Given the description of an element on the screen output the (x, y) to click on. 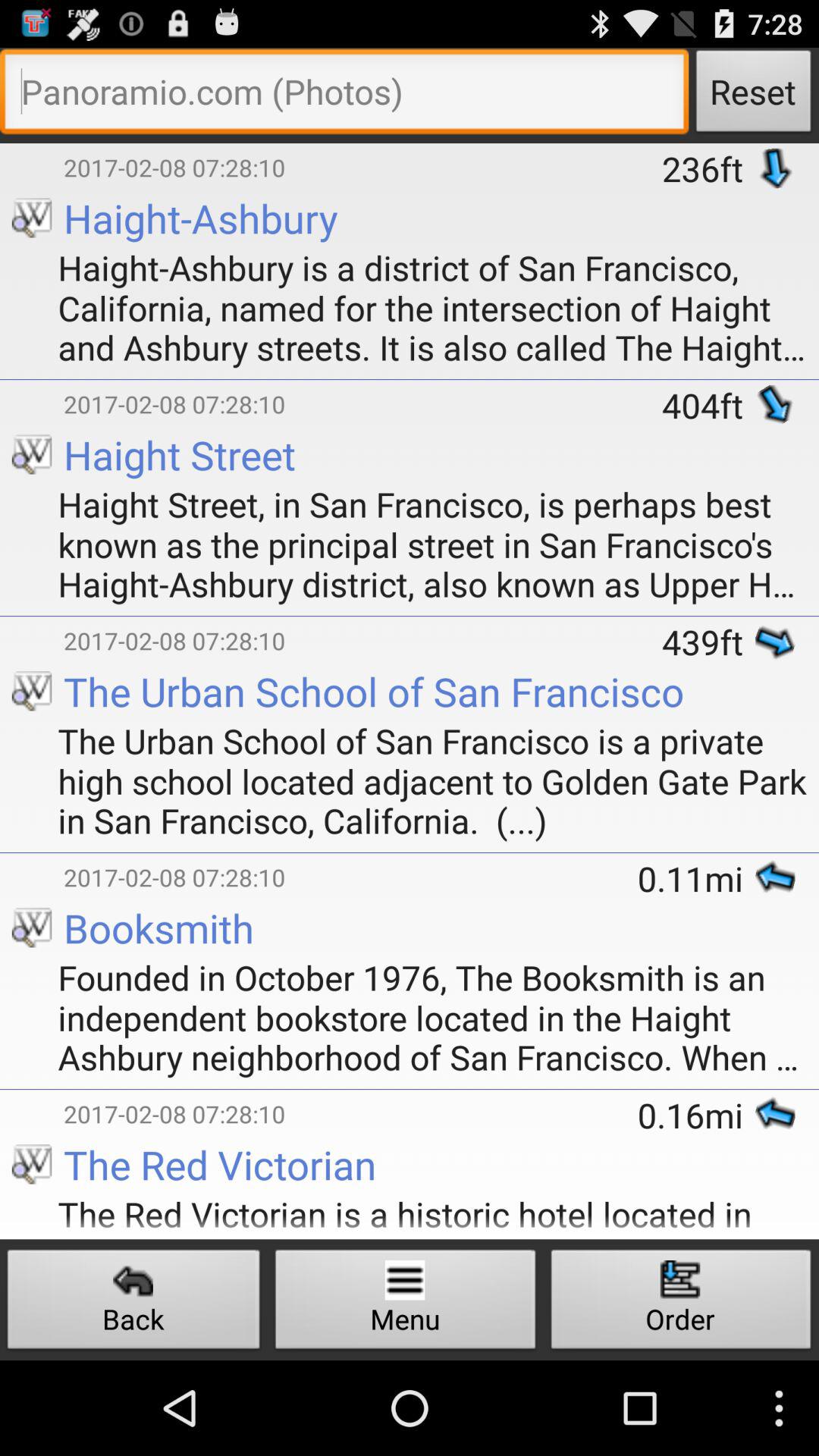
click app below the the red victorian app (405, 1303)
